Given the description of an element on the screen output the (x, y) to click on. 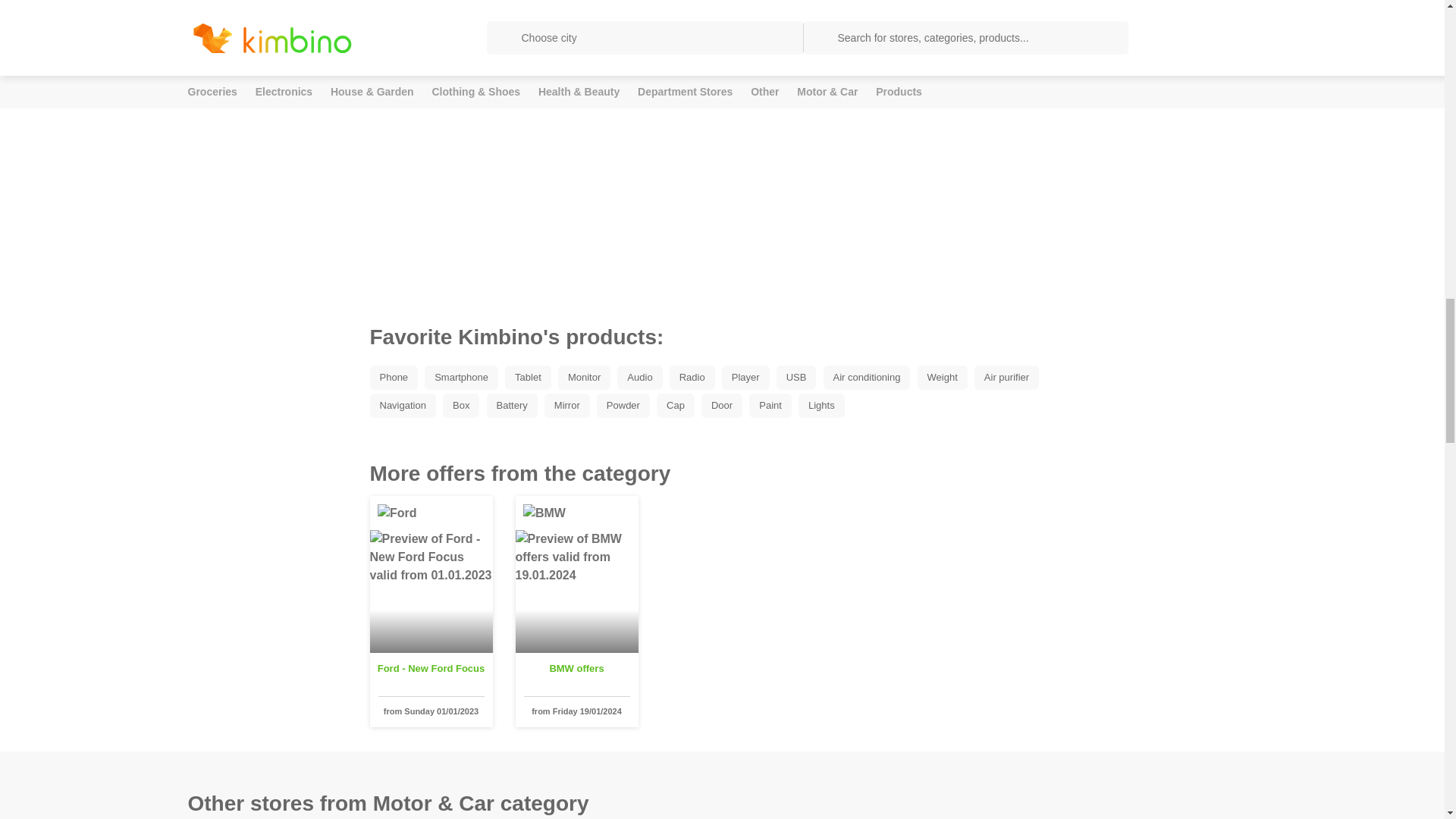
Battery (515, 404)
Monitor (587, 376)
Phone (397, 376)
Weight (945, 376)
Player (749, 376)
Door (725, 404)
Air purifier (1009, 376)
Mirror (570, 404)
Tablet (531, 376)
Air conditioning (870, 376)
Radio (695, 376)
Cap (678, 404)
Navigation (406, 404)
USB (800, 376)
Audio (642, 376)
